Given the description of an element on the screen output the (x, y) to click on. 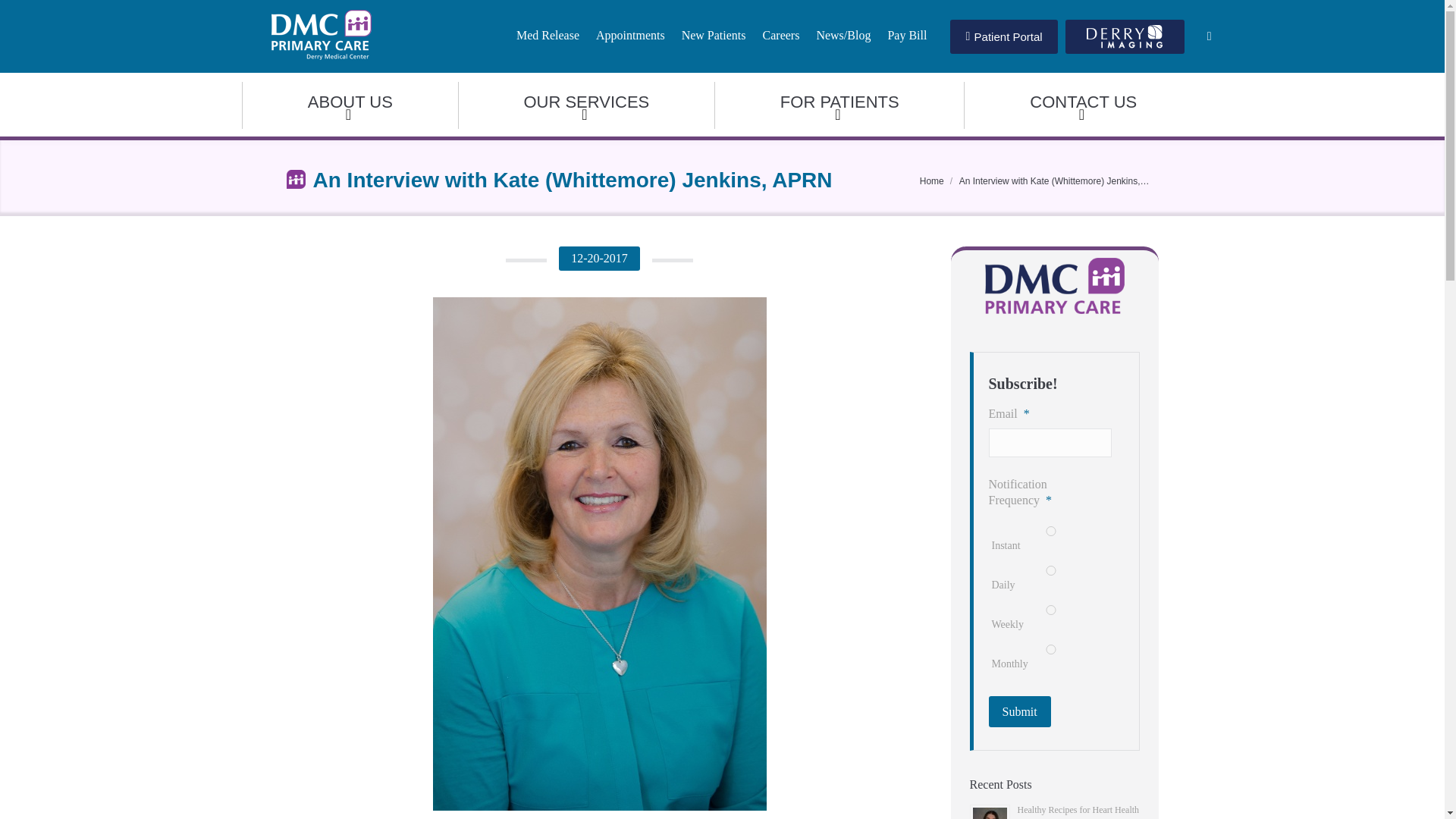
Pay Bill (906, 35)
Go! (15, 10)
FOR PATIENTS (838, 104)
Permalink to Healthy Recipes for Heart Health Month (1078, 811)
Monthly (1050, 649)
Careers (781, 35)
Patient Portal (1003, 36)
Med Release (548, 35)
Appointments (630, 35)
Weekly (1050, 610)
Derry Imaging (1125, 36)
Instant (1050, 531)
Submit (1019, 711)
Daily (1050, 570)
OUR SERVICES (586, 104)
